Given the description of an element on the screen output the (x, y) to click on. 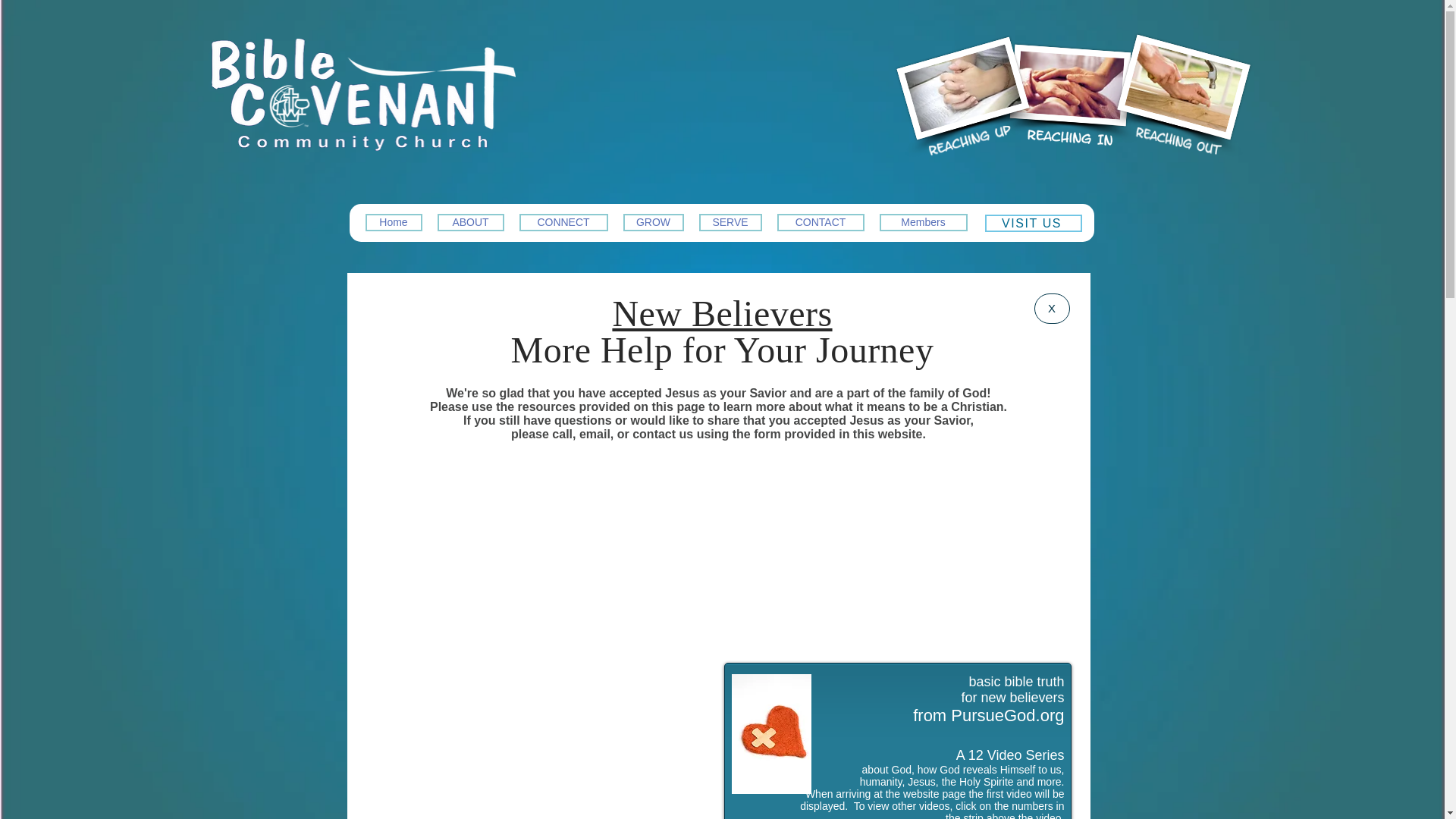
Reaching Up (968, 139)
X (1051, 308)
CONTACT (819, 221)
ABOUT (469, 221)
GROW (653, 221)
Reaching In (1069, 137)
Members (923, 221)
CONNECT (562, 221)
Reaching Out (1177, 139)
SERVE (729, 221)
